Given the description of an element on the screen output the (x, y) to click on. 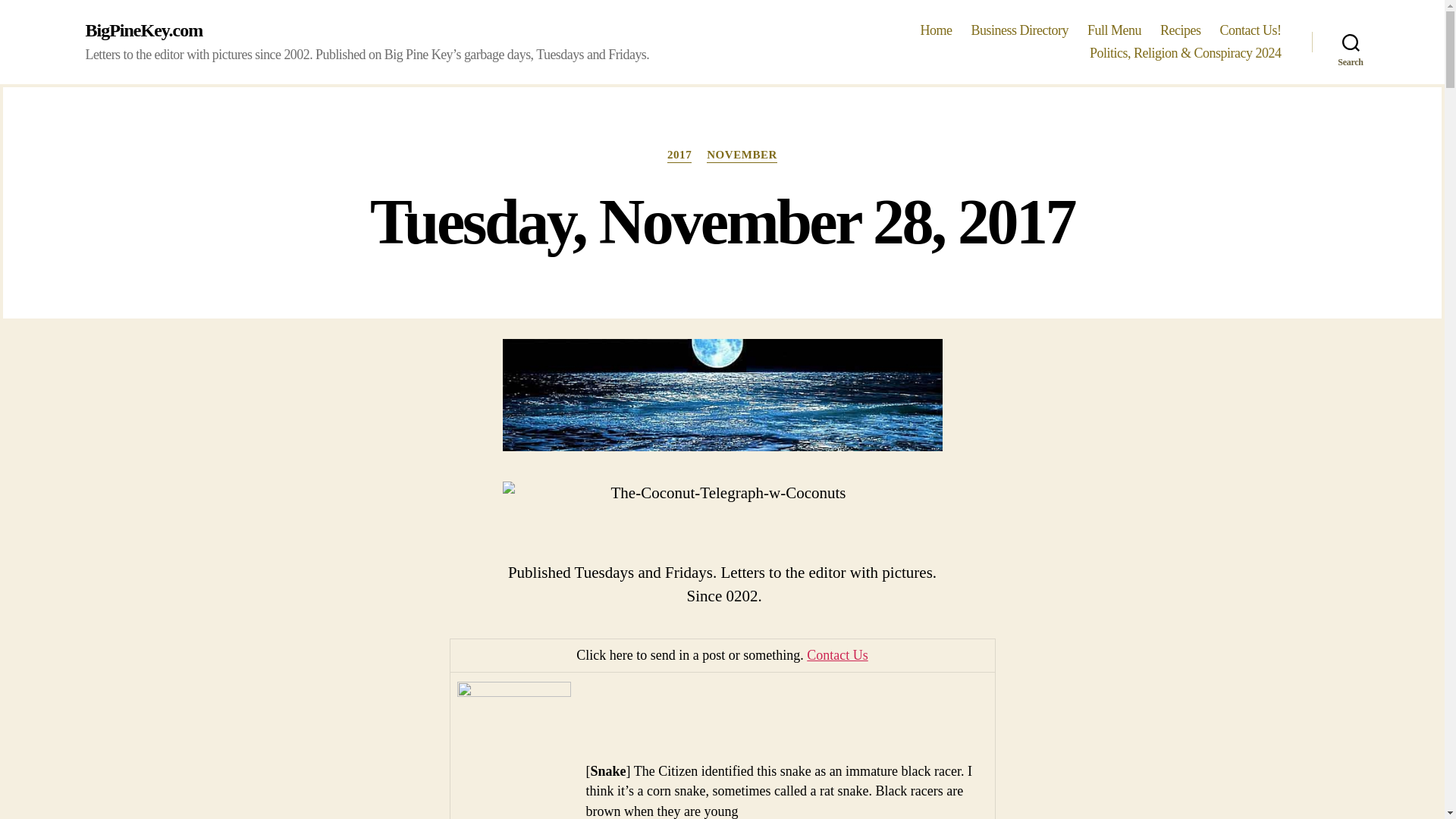
Search (1350, 41)
Contact Us! (1250, 30)
Home (936, 30)
Contact Us (836, 654)
2017 (678, 155)
Full Menu (1114, 30)
BigPineKey.com (143, 30)
Recipes (1180, 30)
Business Directory (1019, 30)
NOVEMBER (741, 155)
